Given the description of an element on the screen output the (x, y) to click on. 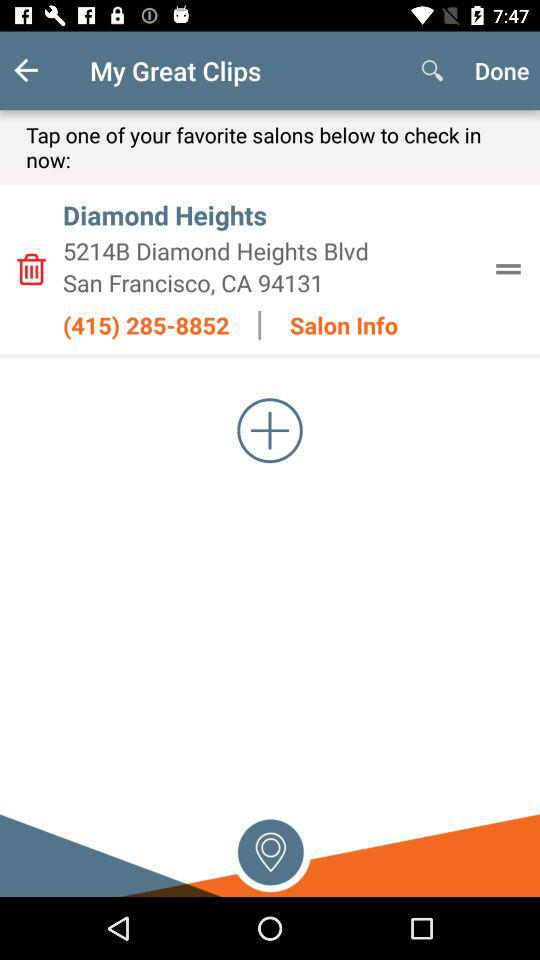
launch app next to the my great clips item (42, 70)
